Given the description of an element on the screen output the (x, y) to click on. 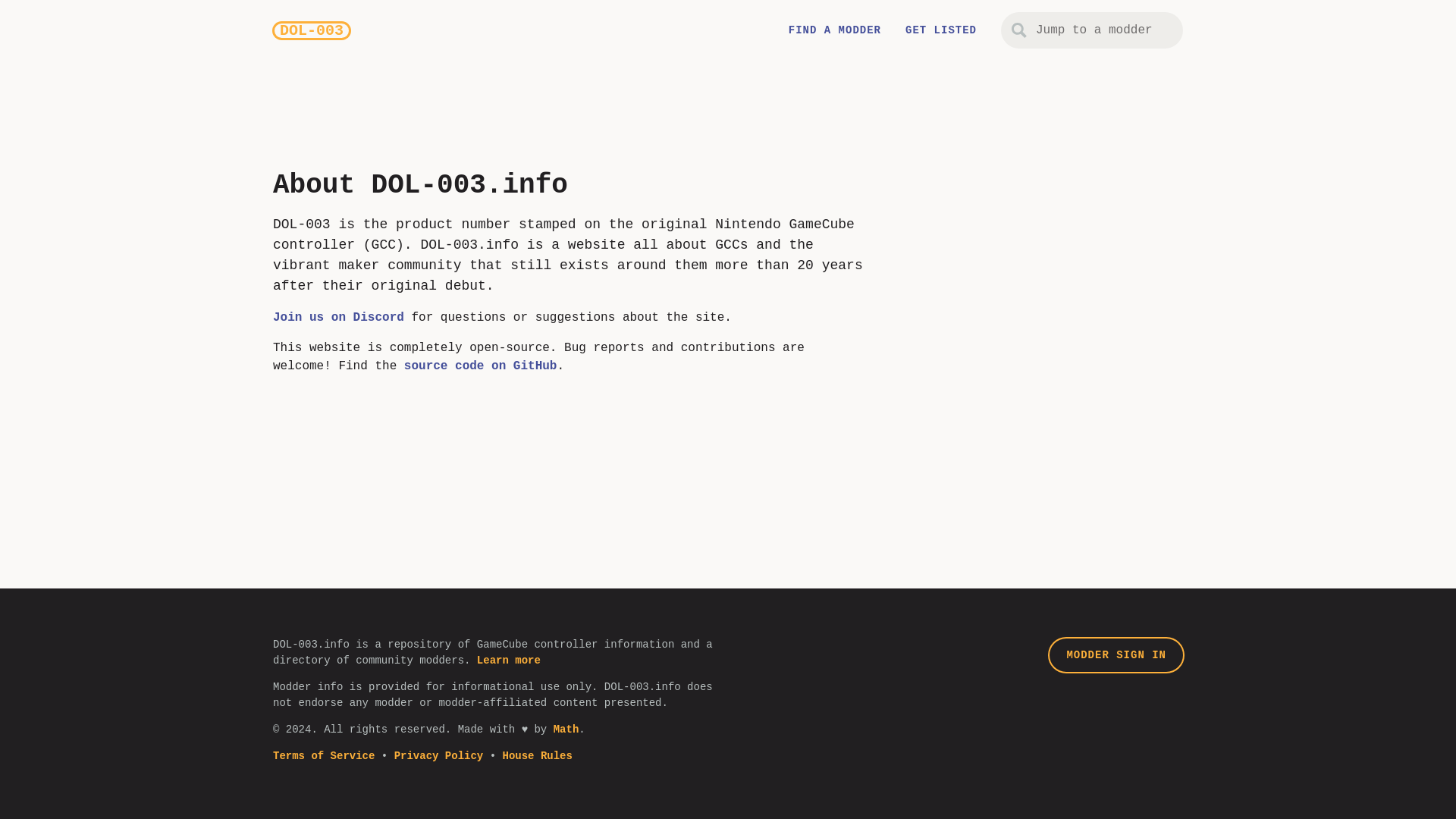
Learn more (508, 660)
DOL-003 (311, 30)
GET LISTED (940, 30)
Join us on Discord (338, 317)
source code on GitHub (480, 366)
Privacy Policy (438, 756)
Math (566, 729)
FIND A MODDER (834, 30)
Terms of Service (323, 756)
House Rules (537, 756)
MODDER SIGN IN (1116, 655)
